Given the description of an element on the screen output the (x, y) to click on. 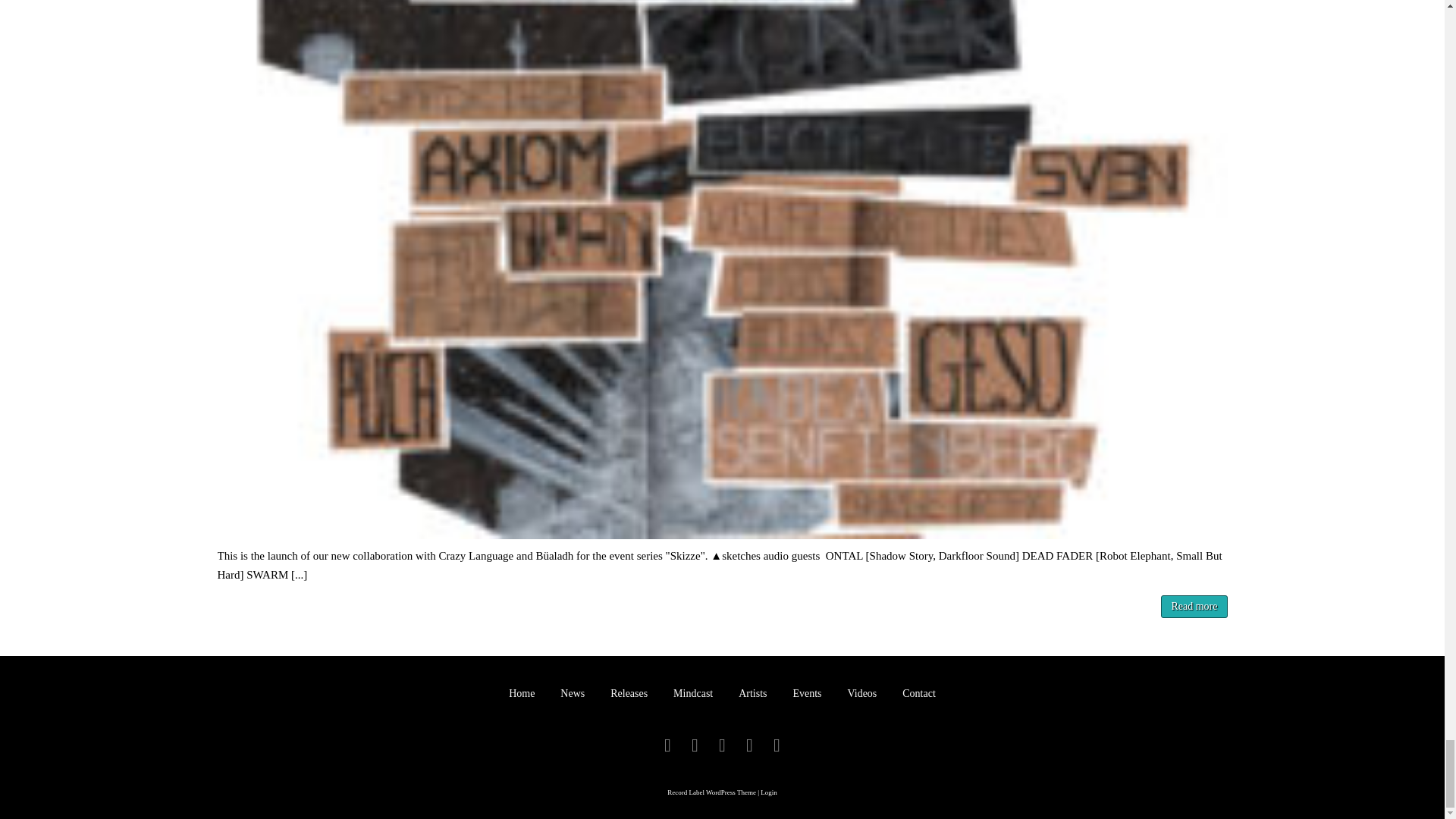
Record Label WordPress Theme (710, 792)
